Given the description of an element on the screen output the (x, y) to click on. 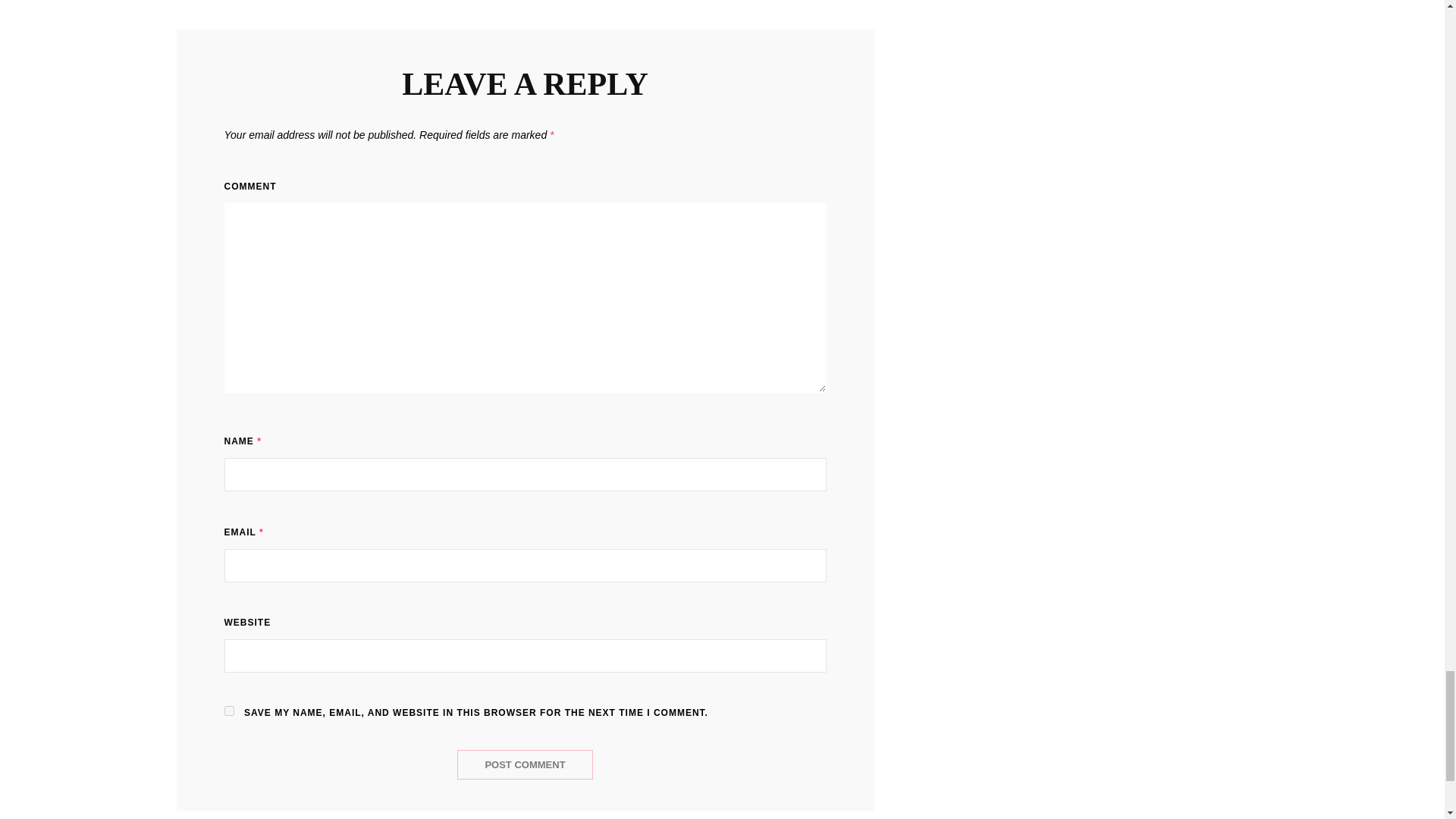
yes (229, 710)
Post Comment (524, 764)
Post Comment (524, 764)
